Given the description of an element on the screen output the (x, y) to click on. 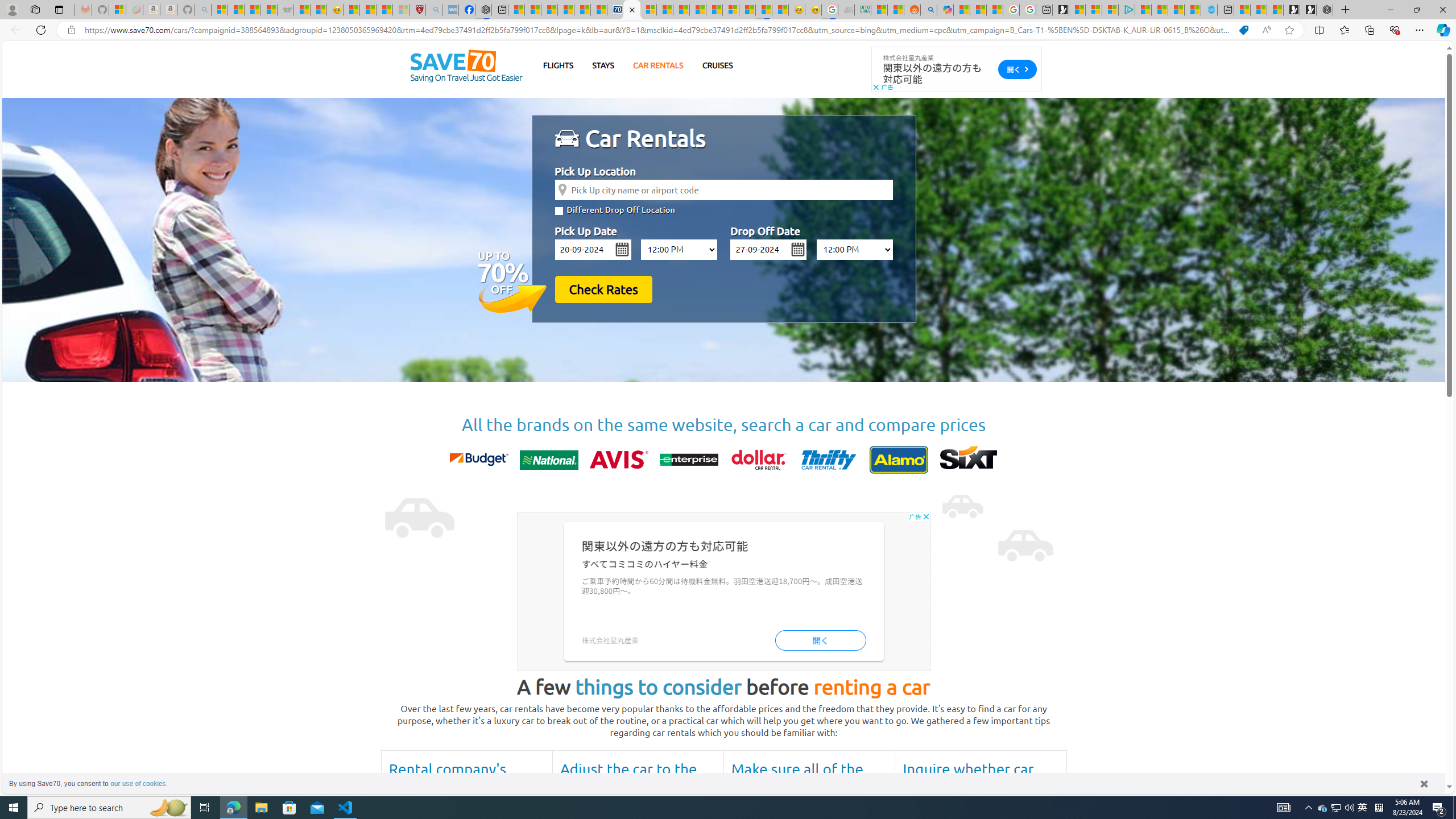
enterprice (688, 459)
Microsoft Copilot in Bing (944, 9)
dismiss cookie message (1424, 783)
